Given the description of an element on the screen output the (x, y) to click on. 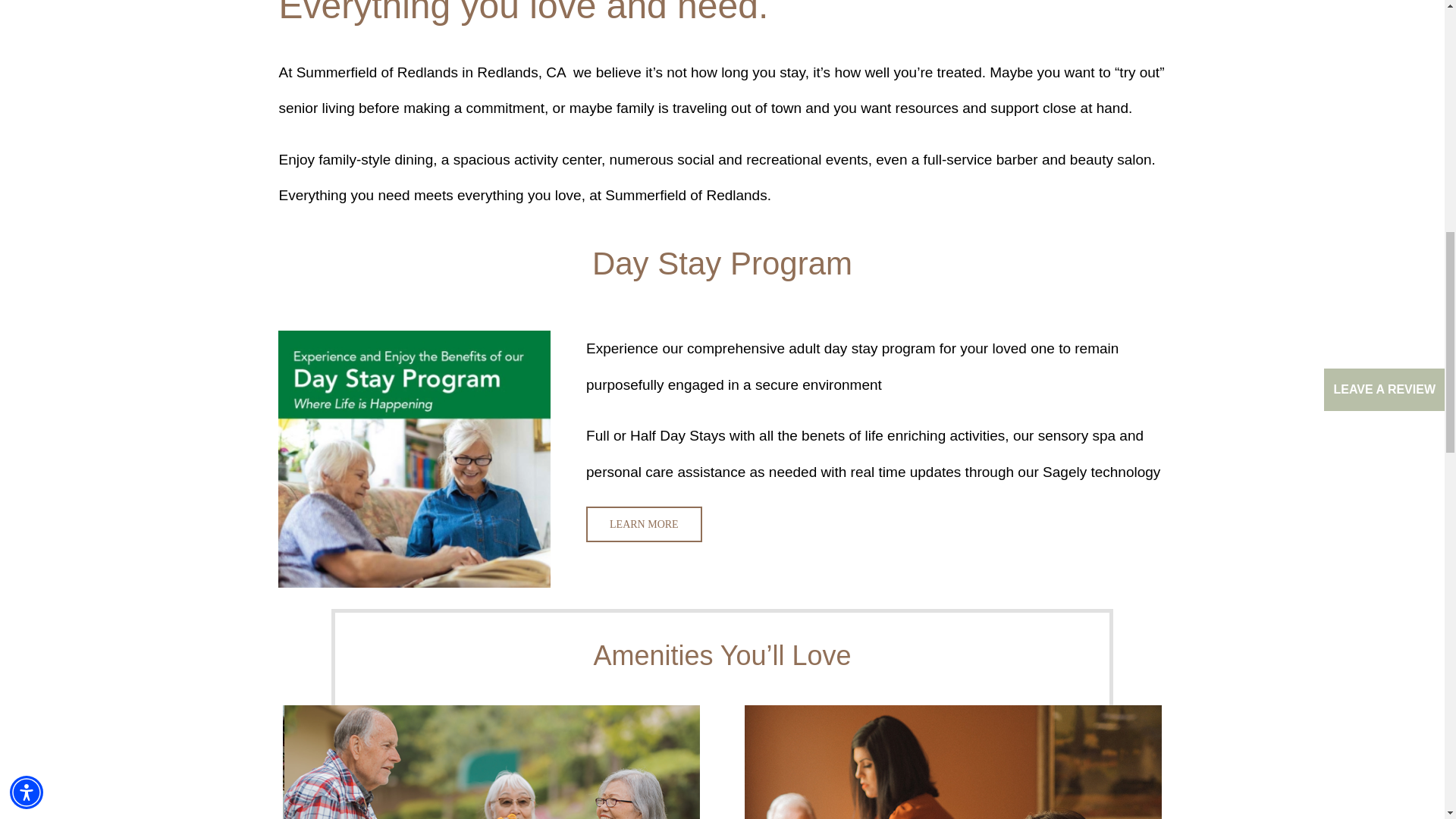
amenities-youll-love-2 (952, 762)
DayStayImage (414, 459)
amenities-youll-love (491, 762)
